Given the description of an element on the screen output the (x, y) to click on. 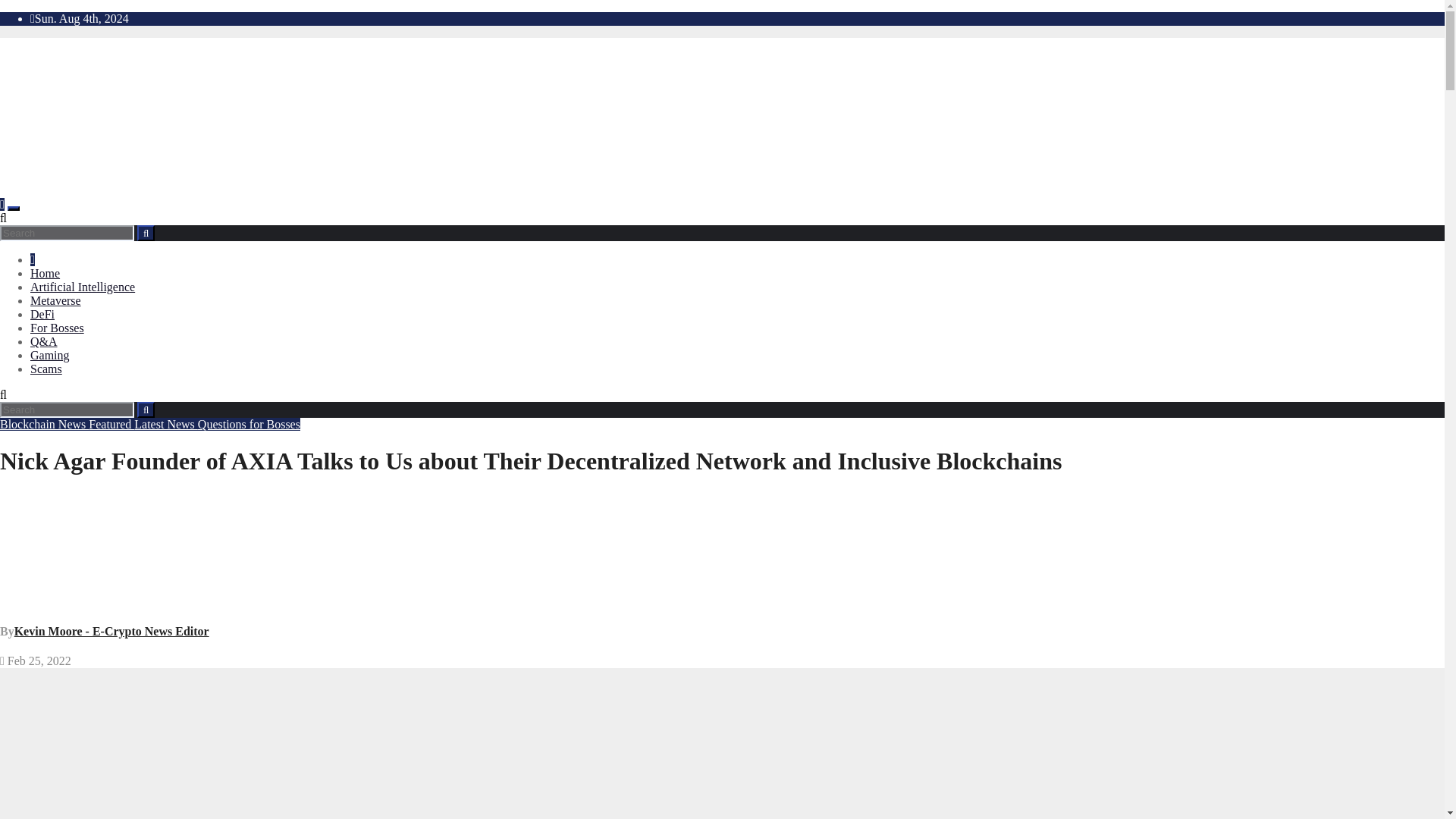
Scams (46, 368)
Gaming (49, 354)
Artificial Intelligence (82, 286)
Home (32, 259)
E-crypto news-01 - E-Crypto News (305, 115)
Featured (110, 423)
Kevin Moore - E-Crypto News Editor (111, 631)
DeFi (42, 314)
Home (44, 273)
Artificial Intelligence (82, 286)
DeFi (42, 314)
Scams (46, 368)
Gaming (49, 354)
Blockchain News (44, 423)
